Given the description of an element on the screen output the (x, y) to click on. 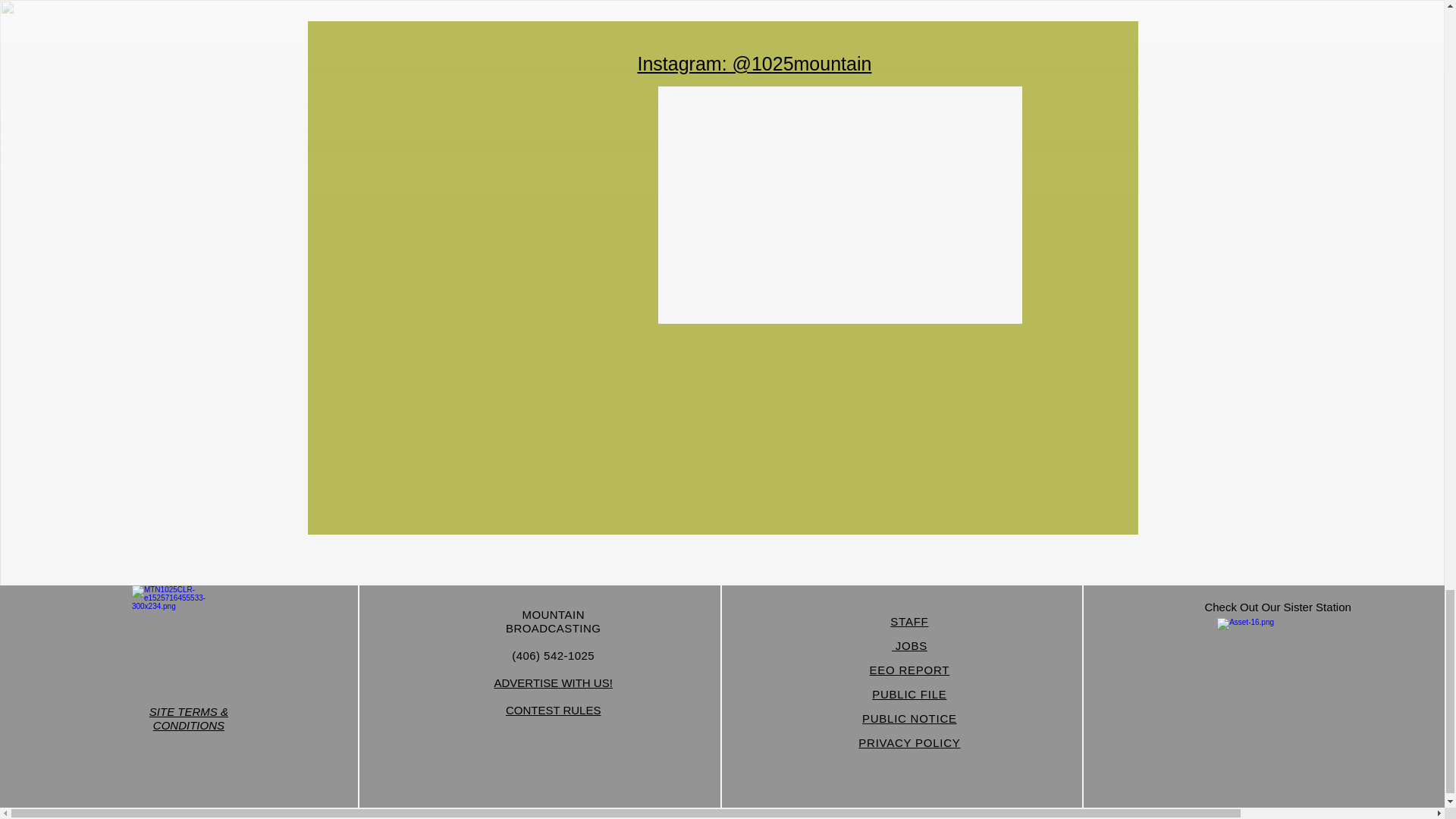
CONTEST RULES (553, 709)
ADVERTISE WITH US! (552, 682)
MOUNTAIN BROADCASTING (552, 621)
